Given the description of an element on the screen output the (x, y) to click on. 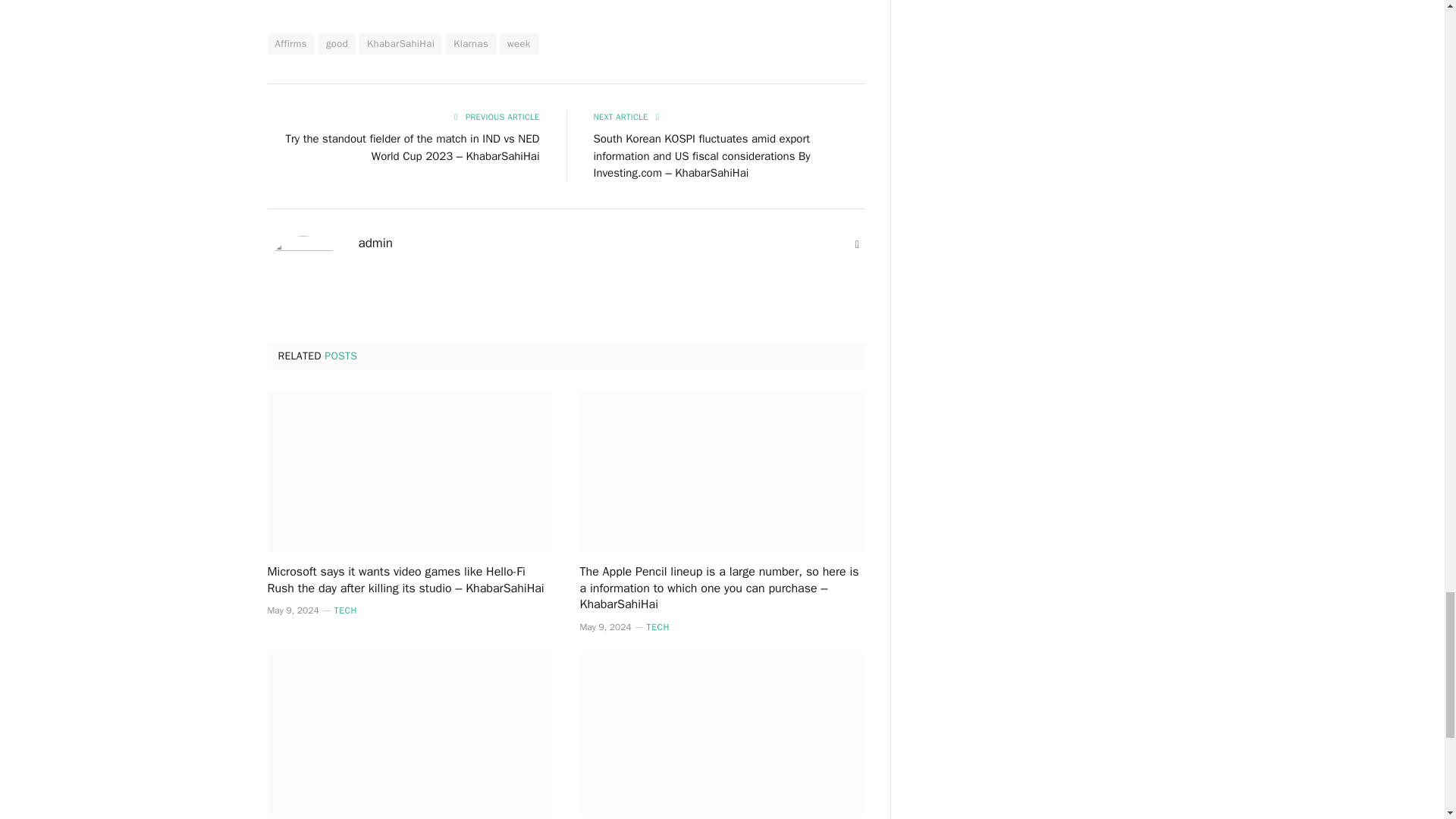
week (518, 43)
Website (856, 244)
good (336, 43)
KhabarSahiHai (400, 43)
Affirms (290, 43)
Posts by admin (375, 242)
Klarnas (470, 43)
